Given the description of an element on the screen output the (x, y) to click on. 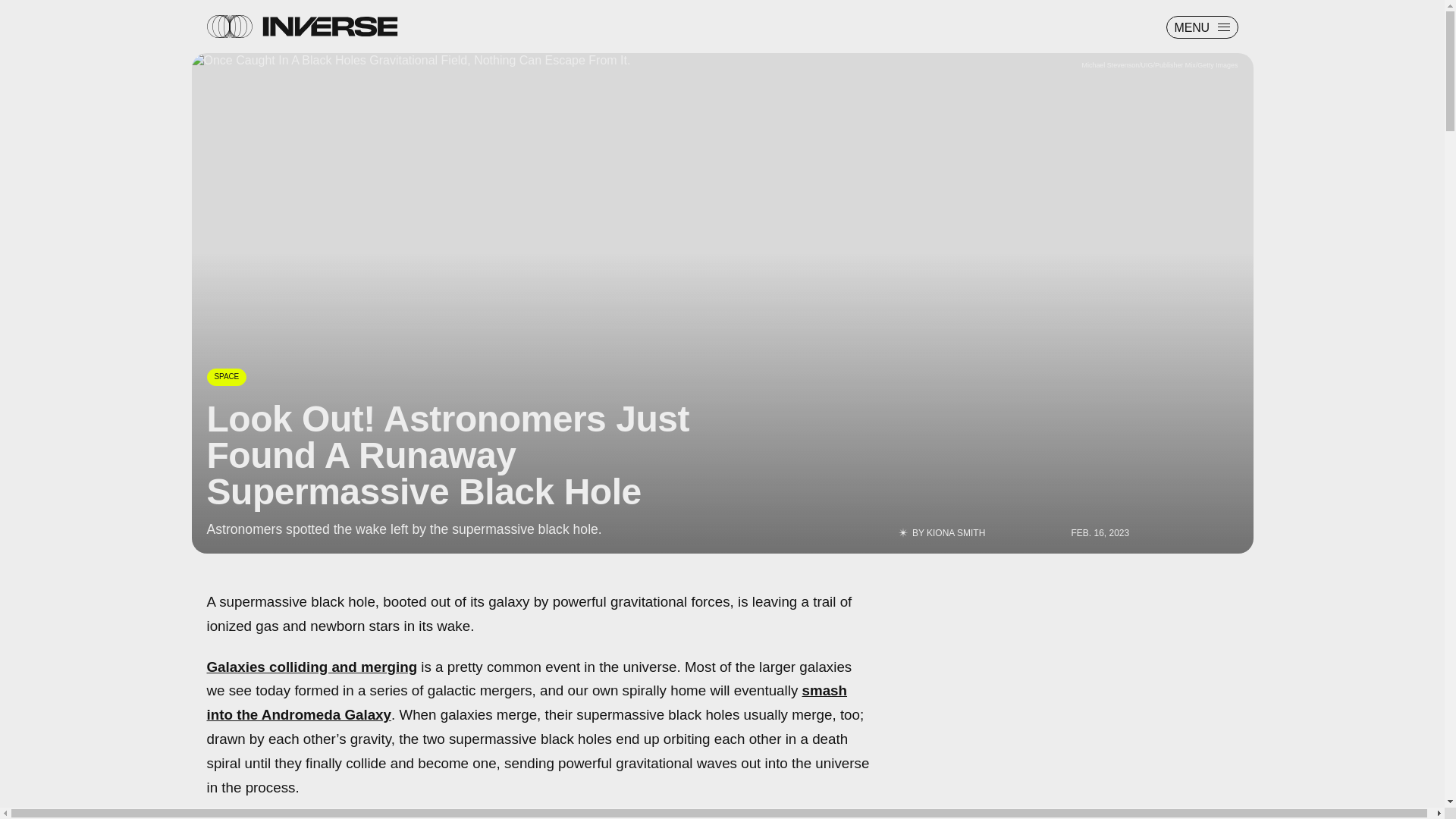
KIONA SMITH (955, 532)
Inverse (328, 26)
Galaxies colliding and merging (311, 666)
smash into the Andromeda Galaxy (526, 702)
